Given the description of an element on the screen output the (x, y) to click on. 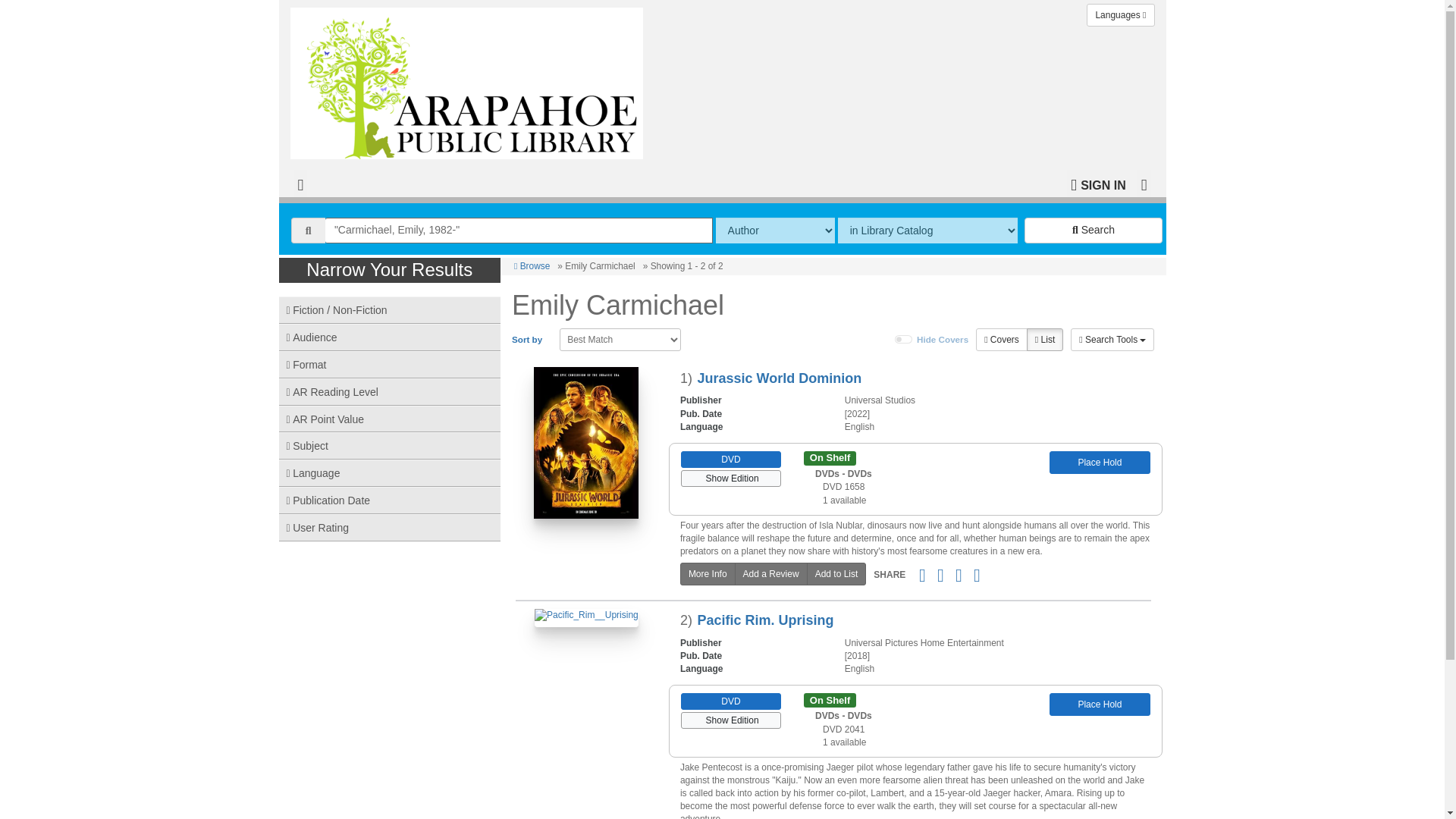
Browse (531, 266)
Languages  (1120, 15)
on (903, 338)
Login (1098, 183)
The method of searching. (775, 230)
Search Tools (1112, 339)
"Carmichael, Emily, 1982-" (518, 230)
Return to Catalog Home (469, 79)
SIGN IN (1098, 183)
